Given the description of an element on the screen output the (x, y) to click on. 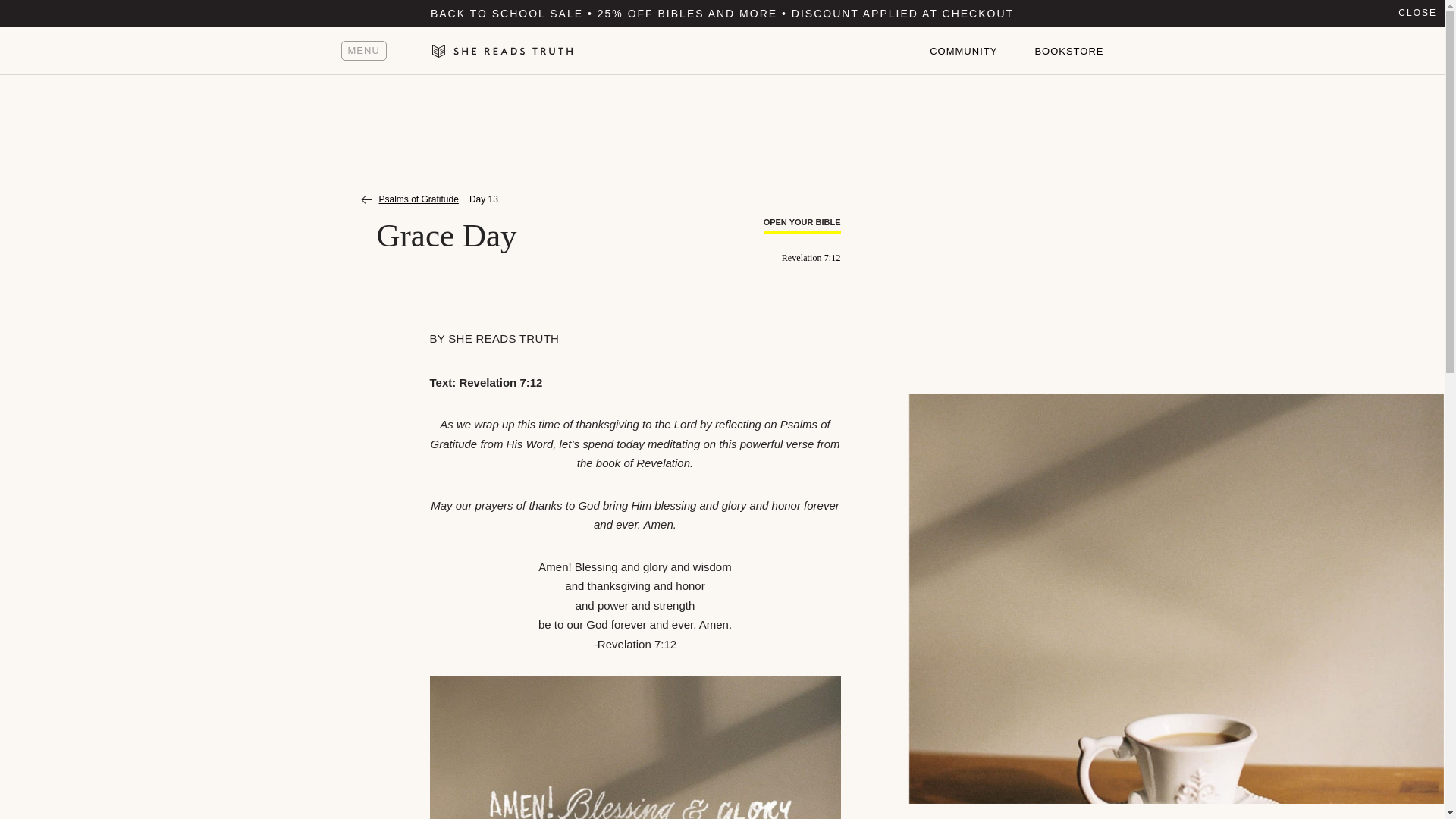
COMMUNITY (963, 51)
Psalms of Gratitude (409, 200)
BOOKSTORE (1068, 51)
SHE READS TRUTH (503, 338)
CLOSE (1417, 13)
MENU (363, 50)
